Given the description of an element on the screen output the (x, y) to click on. 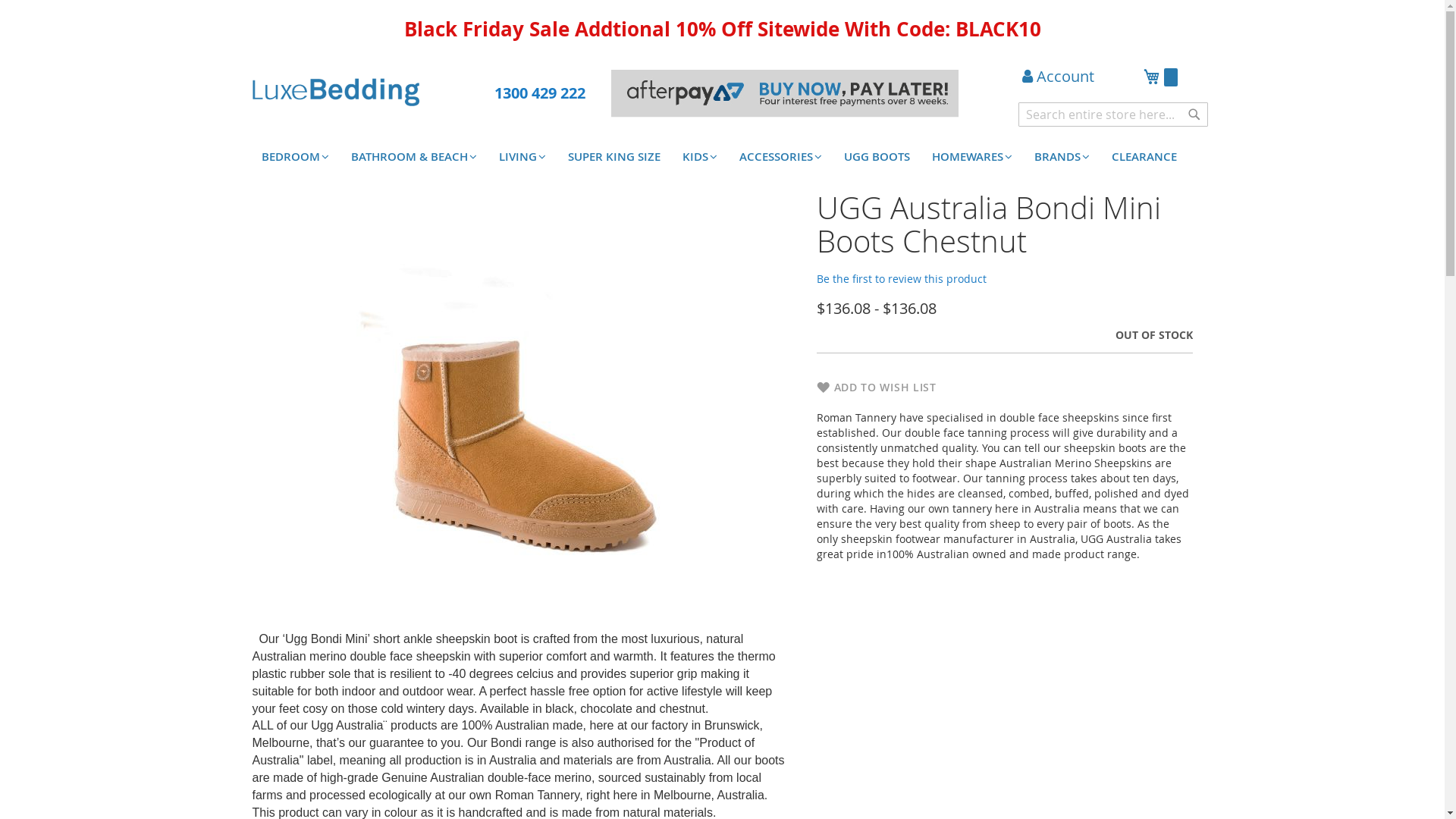
BATHROOM & BEACH Element type: text (413, 156)
ACCESSORIES Element type: text (779, 156)
Skip to the beginning of the images gallery Element type: text (251, 615)
Search Element type: text (1193, 114)
My Cart Element type: text (1160, 78)
Luxe Bedding Element type: hover (334, 92)
Be the first to review this product Element type: text (900, 278)
1300 429 222 Element type: text (539, 92)
KIDS Element type: text (699, 156)
SUPER KING SIZE Element type: text (613, 156)
Skip to the end of the images gallery Element type: text (251, 190)
LIVING Element type: text (522, 156)
BRANDS Element type: text (1061, 156)
CLEARANCE Element type: text (1144, 156)
UGG BOOTS Element type: text (876, 156)
HOMEWARES Element type: text (971, 156)
BEDROOM Element type: text (294, 156)
Account Element type: text (1058, 76)
ADD TO WISH LIST Element type: text (875, 387)
